Given the description of an element on the screen output the (x, y) to click on. 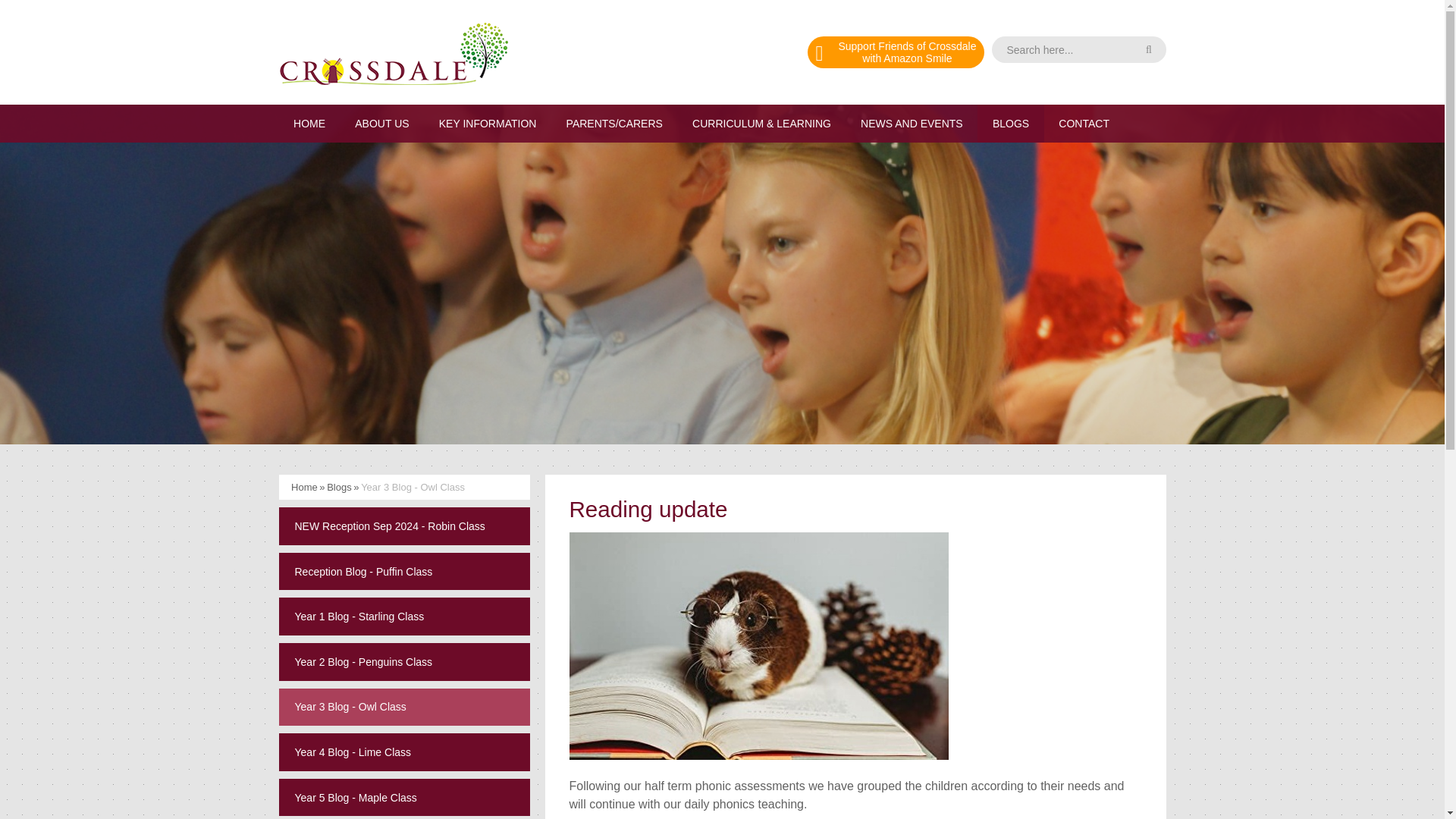
HOME (309, 123)
search... (1078, 49)
ABOUT US (382, 123)
Search here... (1078, 49)
KEY INFORMATION (487, 123)
